Given the description of an element on the screen output the (x, y) to click on. 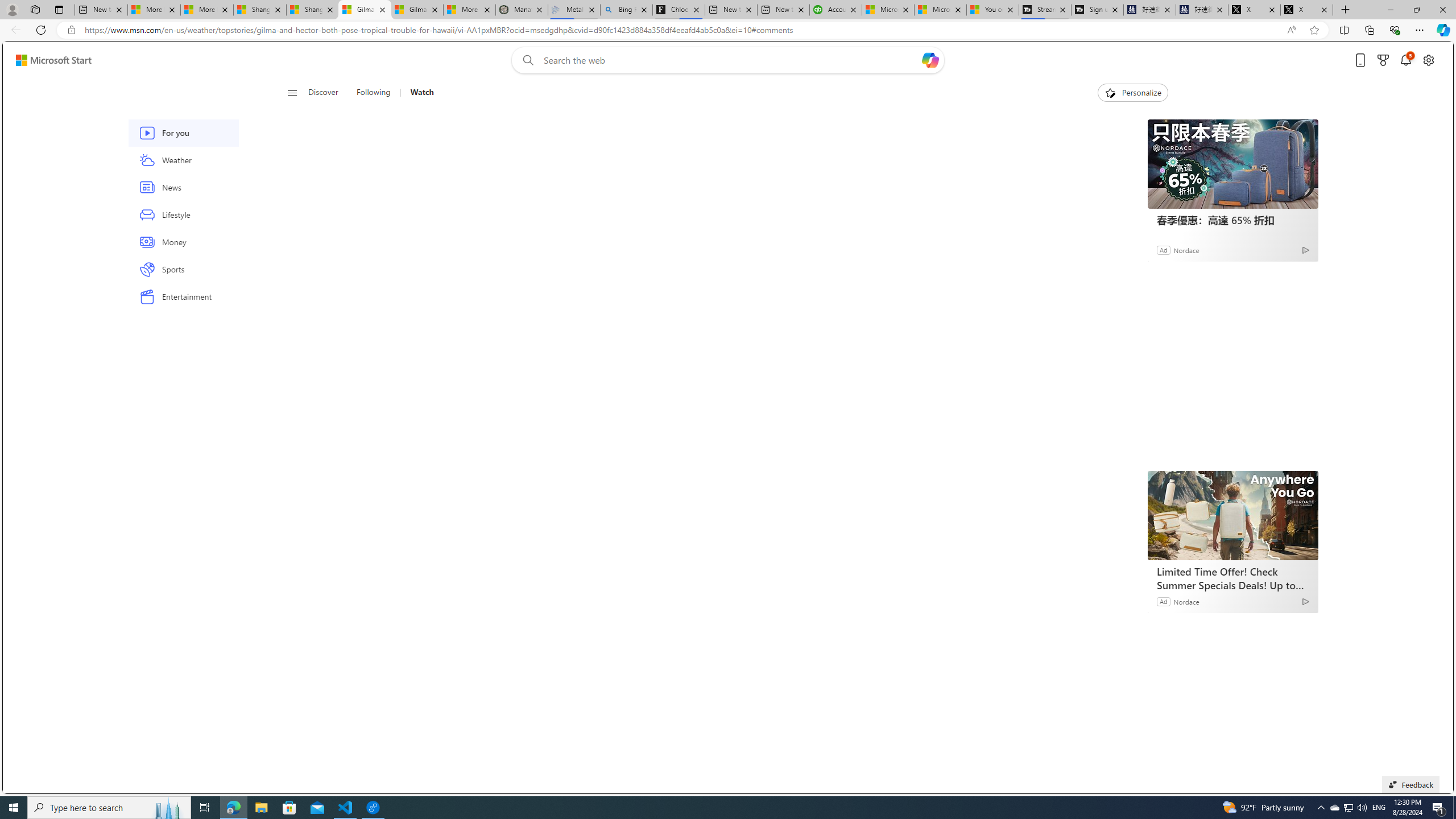
Class: button-glyph (292, 92)
